Given the description of an element on the screen output the (x, y) to click on. 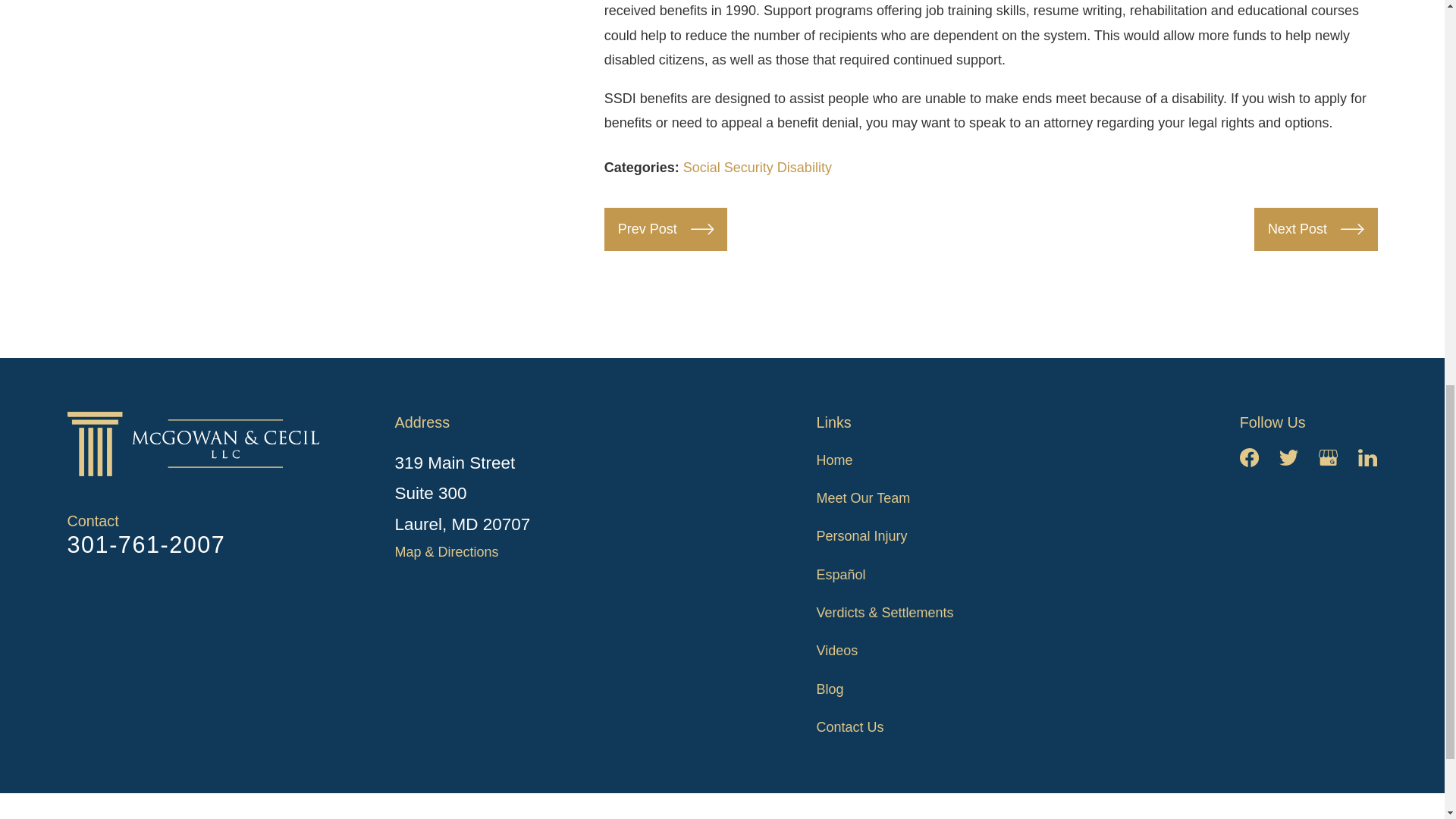
Google Business Profile (1328, 456)
Facebook (1249, 456)
Twitter (1288, 456)
Home (198, 443)
